Given the description of an element on the screen output the (x, y) to click on. 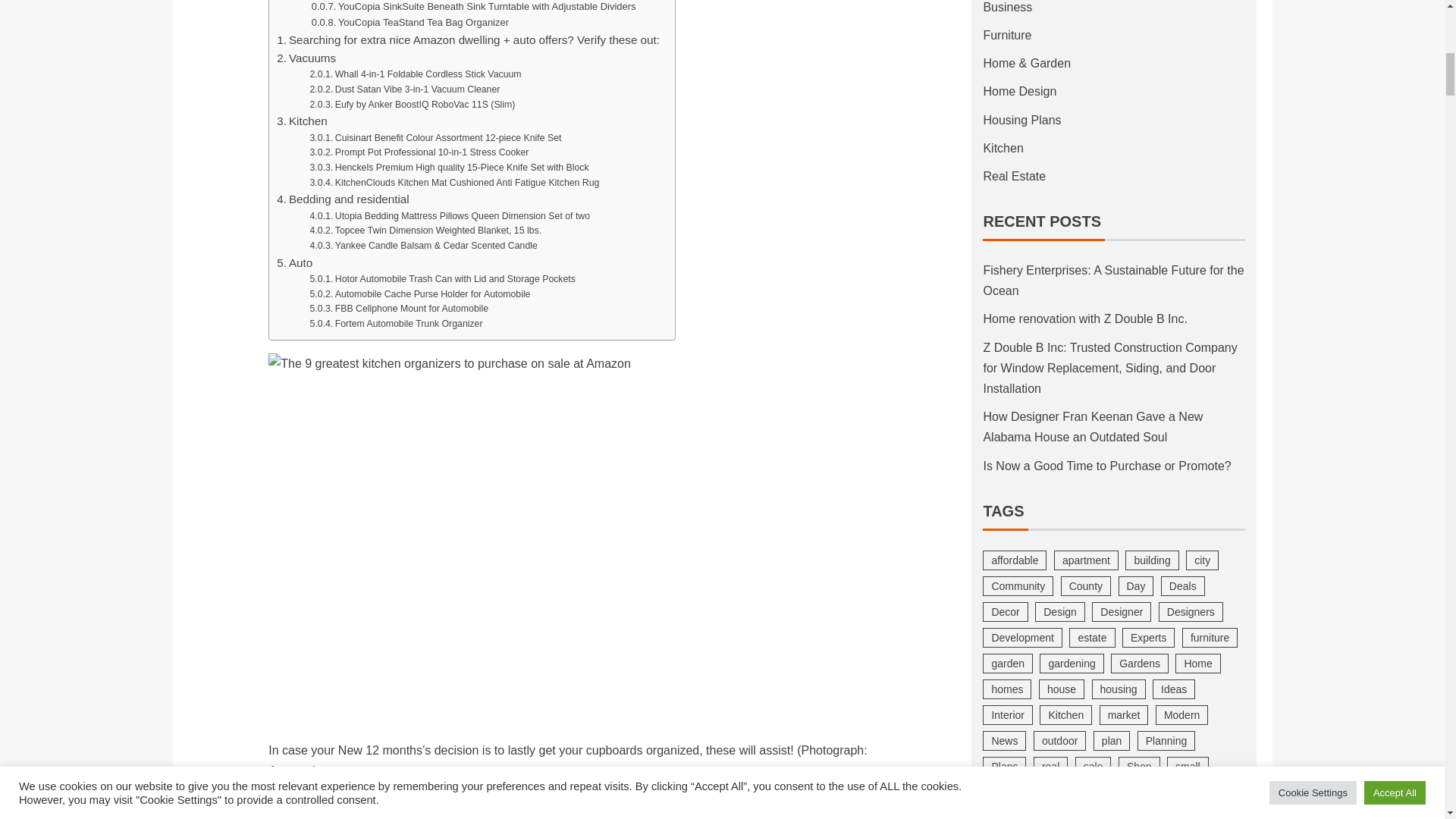
KitchenClouds Kitchen Mat Cushioned Anti Fatigue Kitchen Rug (454, 183)
Whall 4-in-1 Foldable Cordless Stick Vacuum (415, 74)
Dust Satan Vibe 3-in-1 Vacuum Cleaner (405, 89)
Cuisinart Benefit Colour Assortment 12-piece Knife Set (436, 138)
YouCopia TeaStand Tea Bag Organizer (409, 23)
Kitchen (301, 121)
Prompt Pot Professional 10-in-1 Stress Cooker (419, 152)
Vacuums (306, 58)
Henckels Premium High quality 15-Piece Knife Set with Block (449, 168)
